Given the description of an element on the screen output the (x, y) to click on. 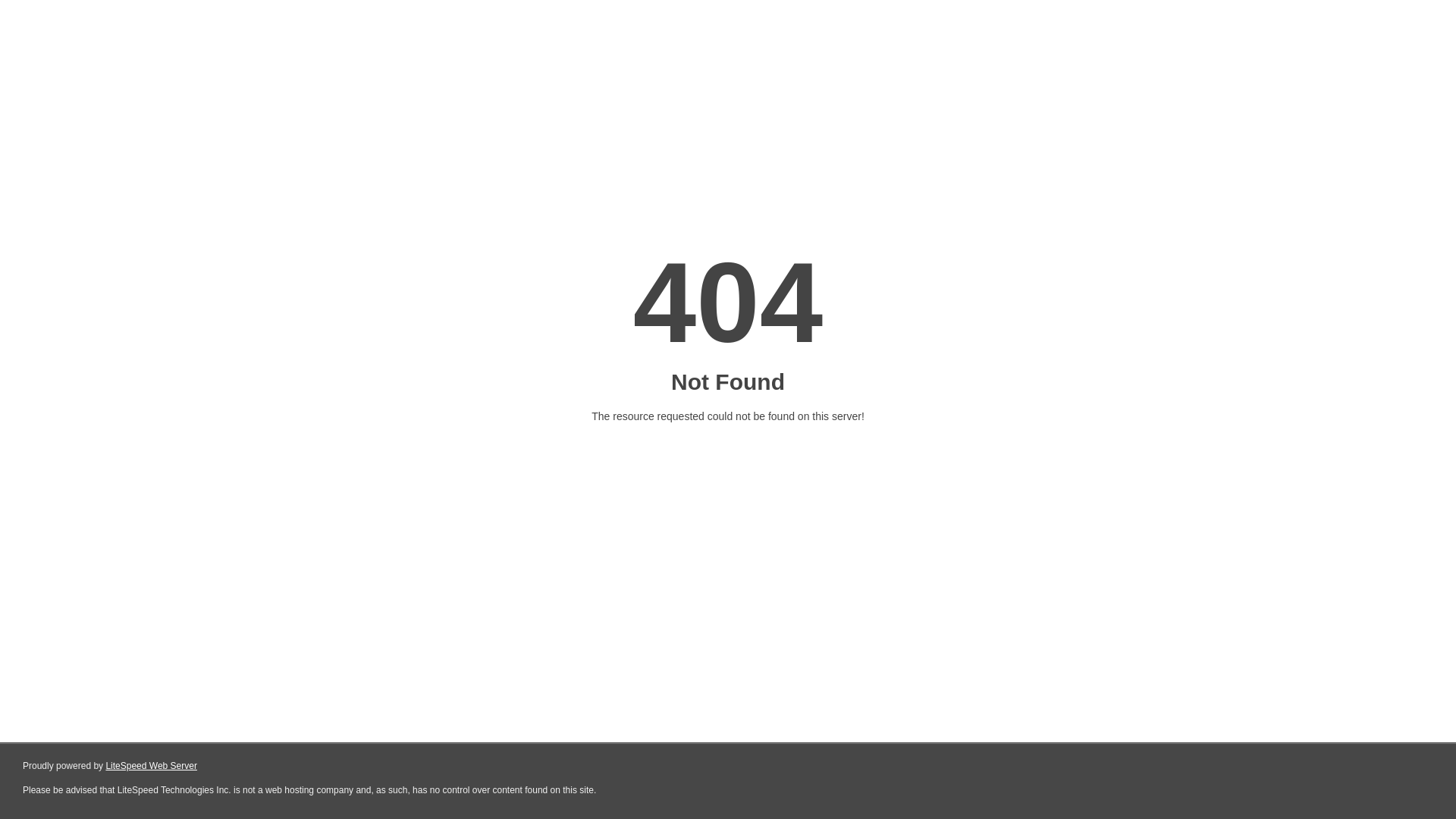
LiteSpeed Web Server Element type: text (151, 765)
